Given the description of an element on the screen output the (x, y) to click on. 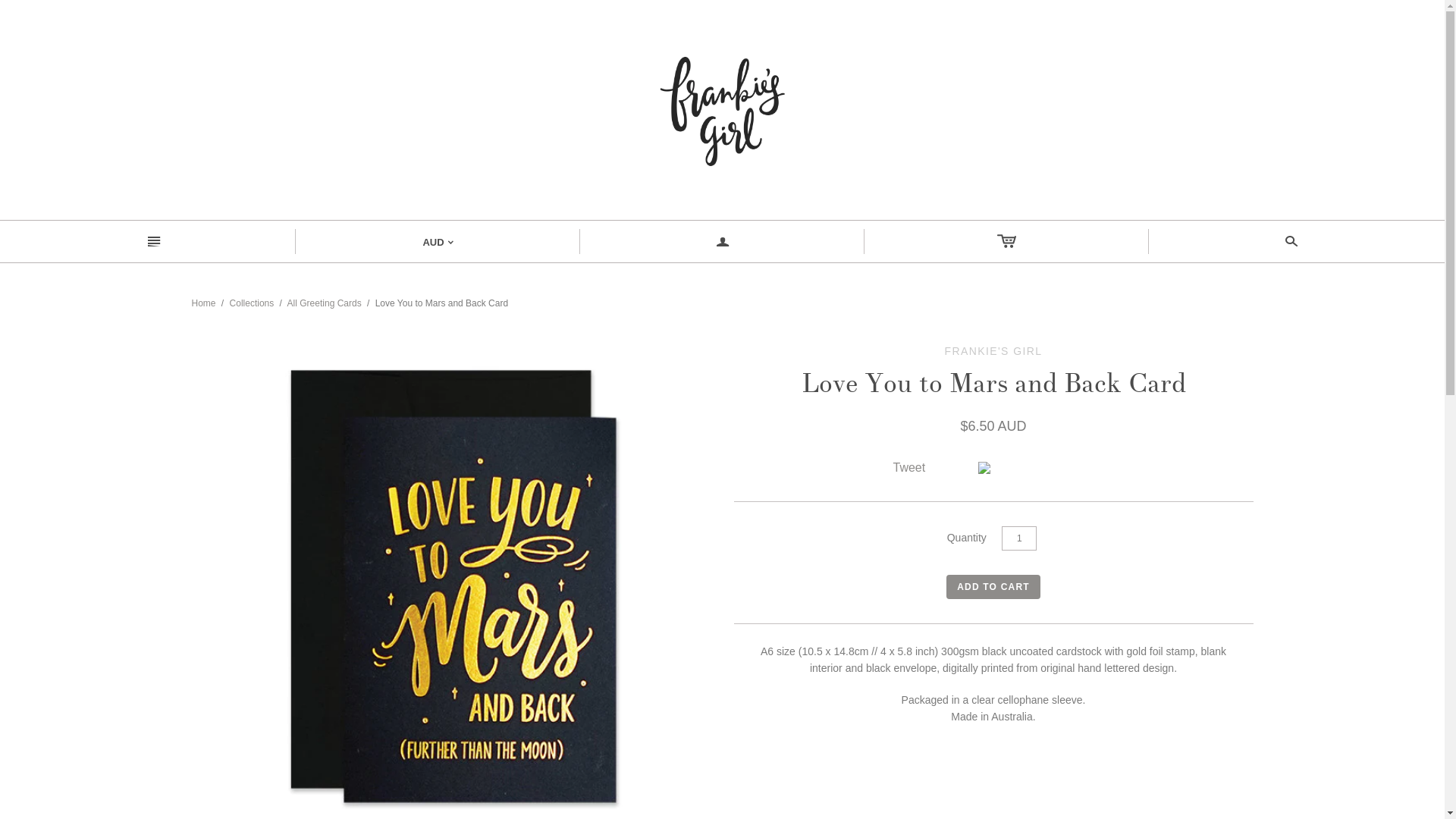
Tweet Element type: text (909, 467)
Home Element type: text (203, 303)
a Element type: text (722, 241)
Add to cart Element type: text (993, 586)
Collections Element type: text (251, 303)
All Greeting Cards Element type: text (324, 303)
